Given the description of an element on the screen output the (x, y) to click on. 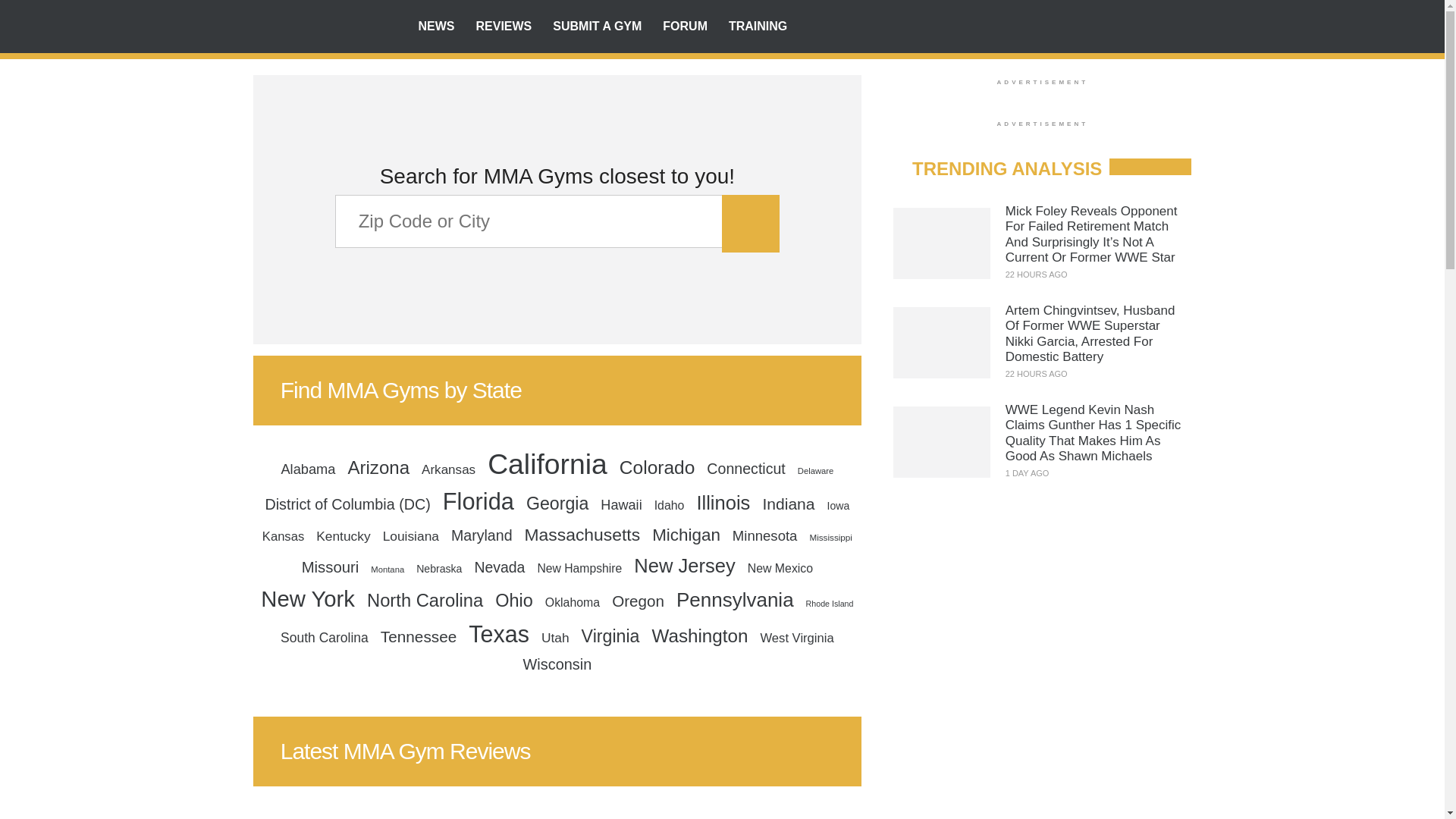
Find MMA Gyms (323, 26)
Illinois (722, 503)
Idaho (668, 505)
RSS (1094, 26)
California (546, 464)
Colorado (656, 468)
REVIEWS (504, 26)
Arkansas (447, 469)
Connecticut (745, 469)
TRAINING (757, 26)
